Given the description of an element on the screen output the (x, y) to click on. 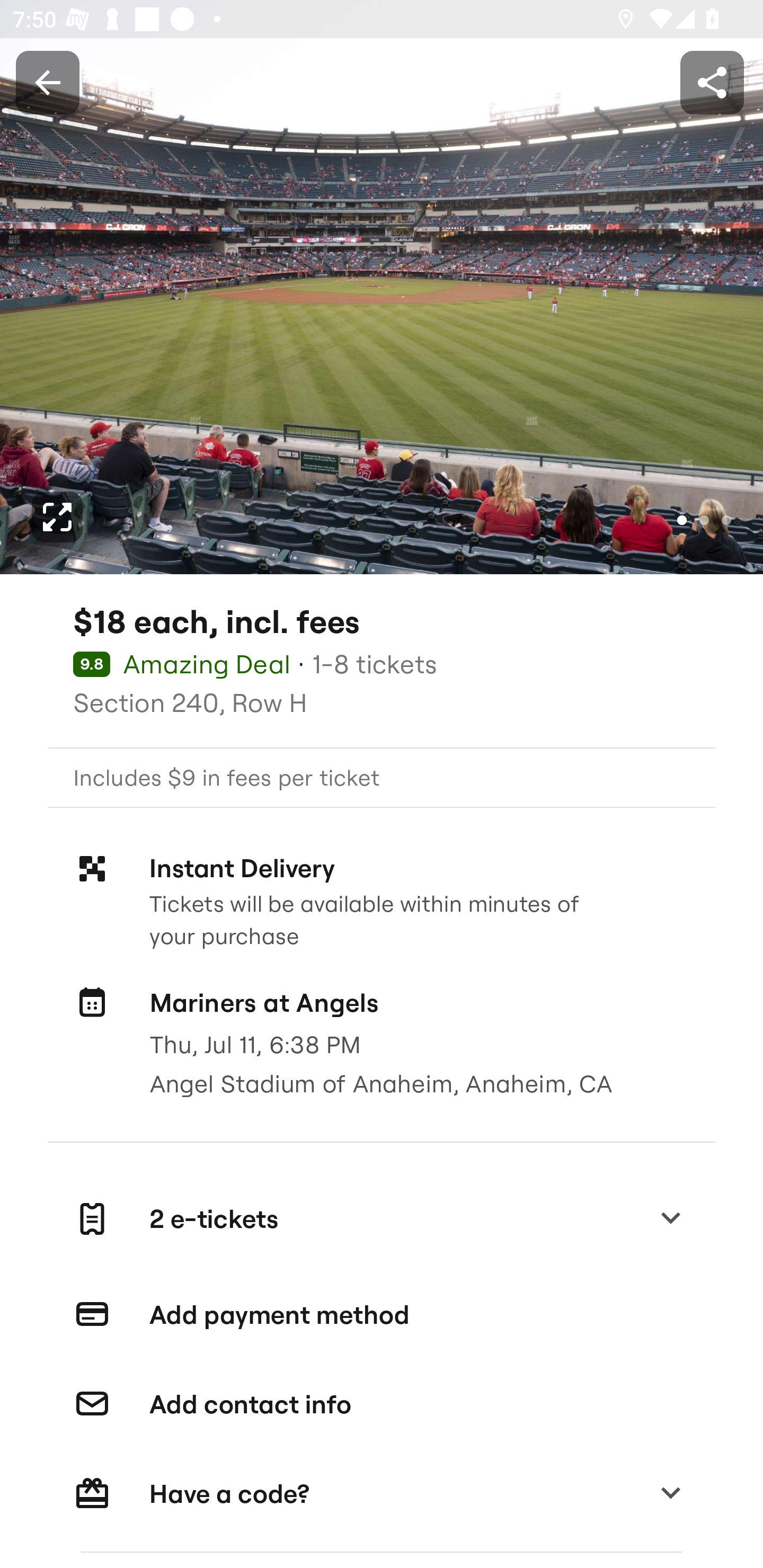
Back (47, 81)
Share (711, 81)
Expand image to fullscreen (57, 517)
2 e-tickets Expand to show options (381, 1219)
Add payment method (381, 1314)
Add contact info (381, 1403)
Have a code? Expand to show options (381, 1493)
